Given the description of an element on the screen output the (x, y) to click on. 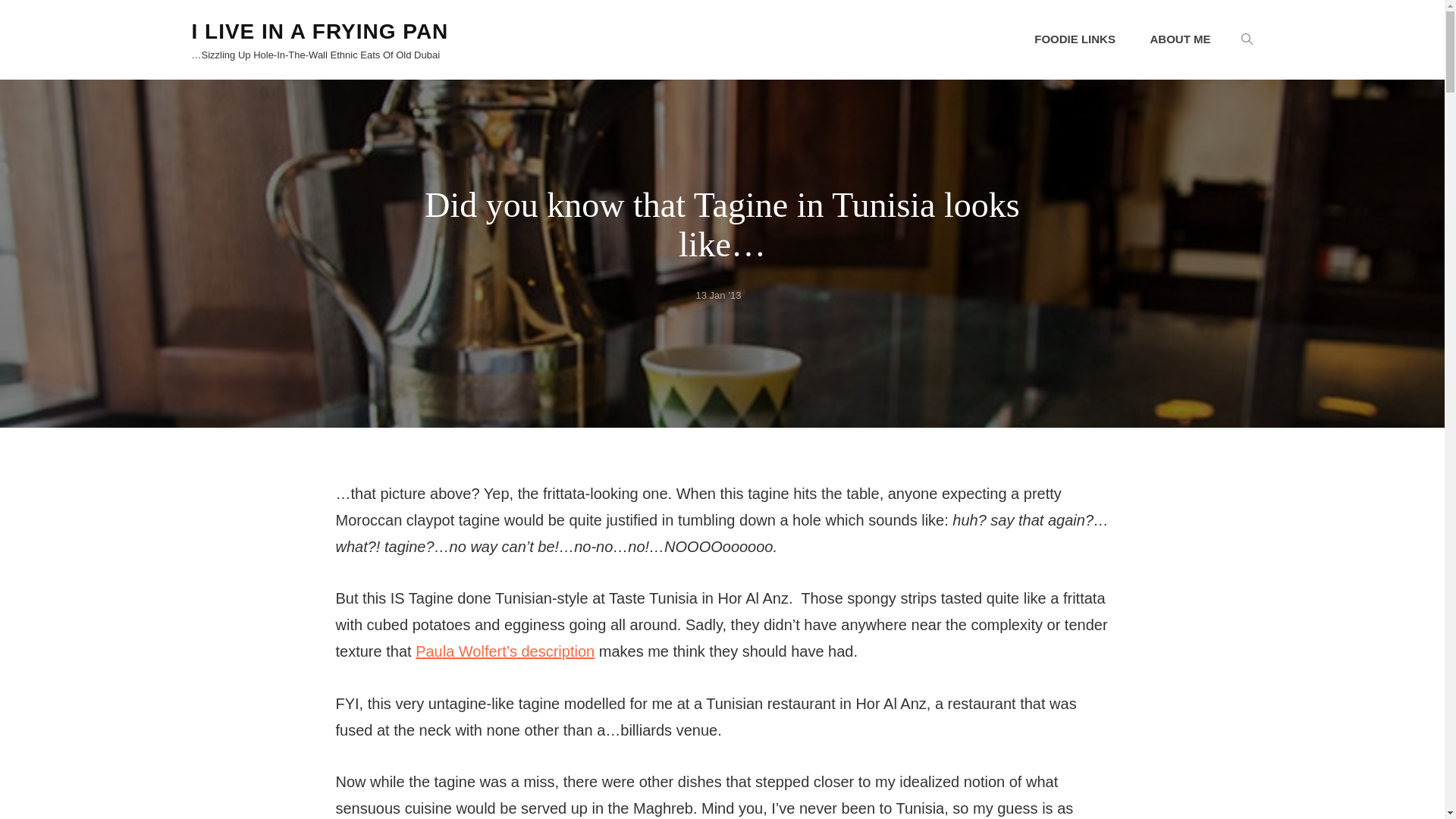
ABOUT ME (1179, 39)
I LIVE IN A FRYING PAN (319, 31)
FOODIE LINKS (1075, 39)
